Given the description of an element on the screen output the (x, y) to click on. 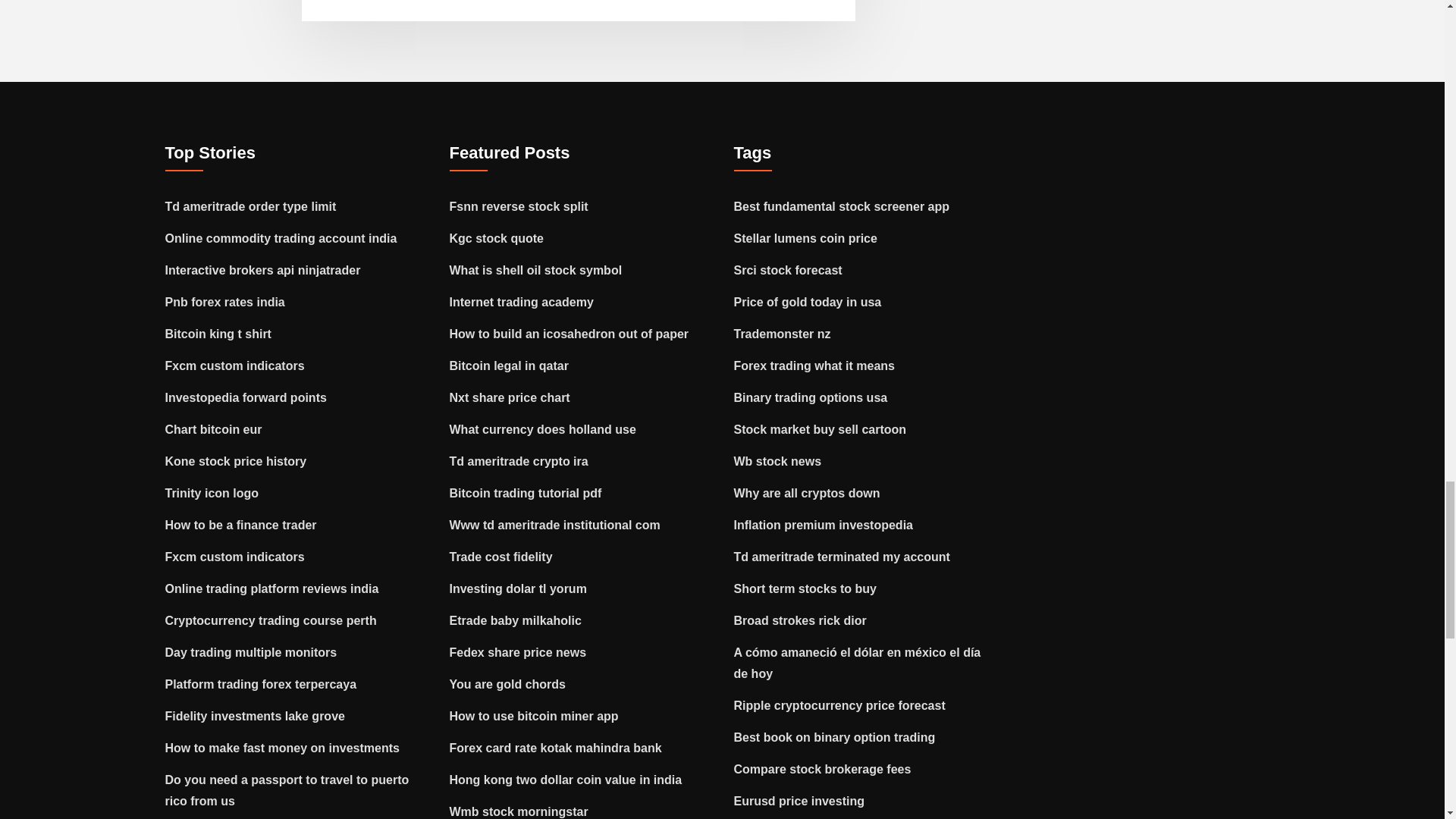
Fidelity investments lake grove (255, 716)
Trinity icon logo (212, 492)
How to make fast money on investments (281, 748)
Kone stock price history (236, 461)
Online trading platform reviews india (271, 588)
Fxcm custom indicators (234, 556)
Cryptocurrency trading course perth (271, 620)
Do you need a passport to travel to puerto rico from us (287, 790)
Chart bitcoin eur (213, 429)
How to be a finance trader (241, 524)
